Given the description of an element on the screen output the (x, y) to click on. 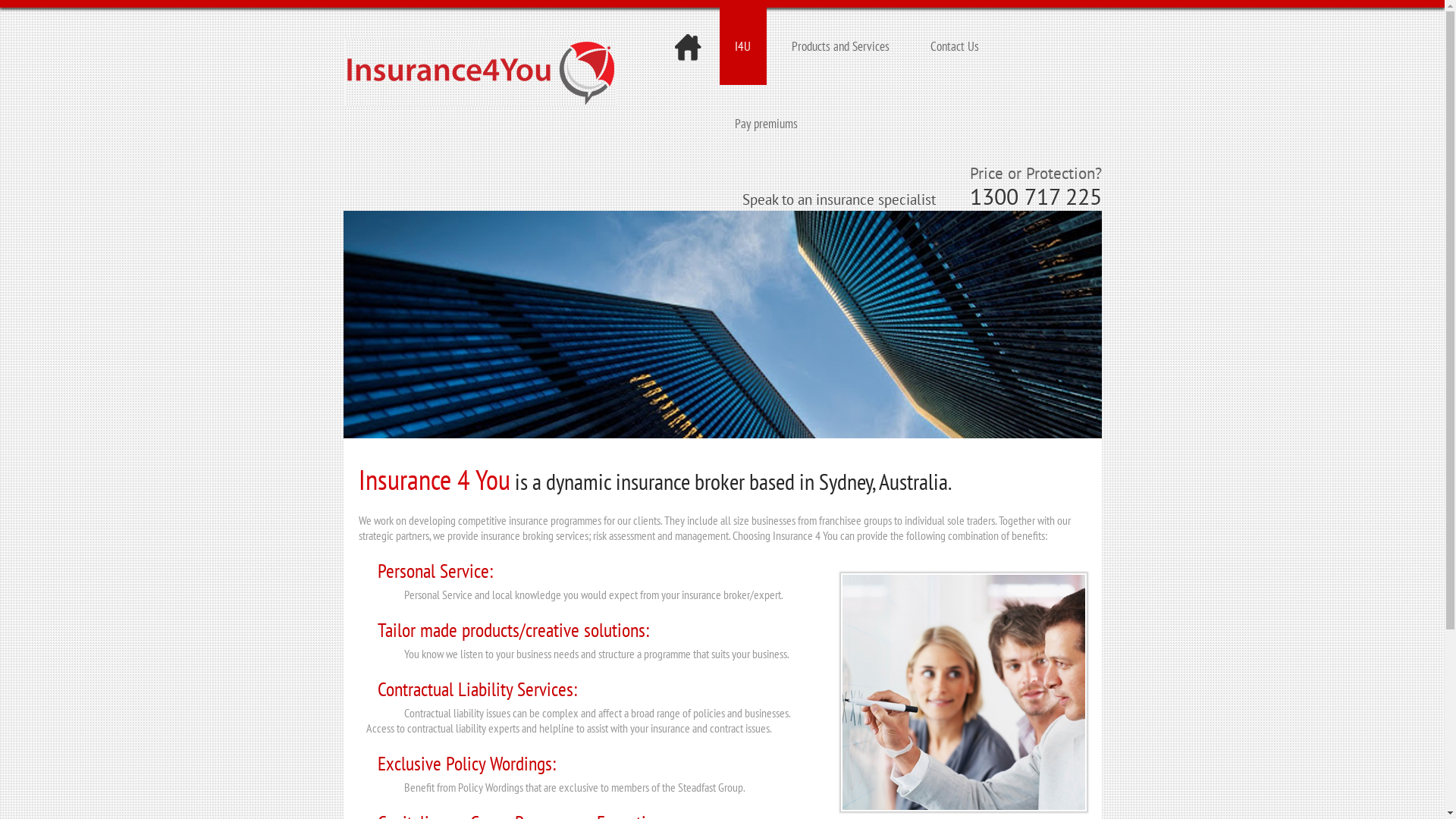
I4U Element type: text (742, 45)
Contact Us Element type: text (954, 45)
Products and Services Element type: text (840, 45)
Pay premiums Element type: text (765, 123)
